Given the description of an element on the screen output the (x, y) to click on. 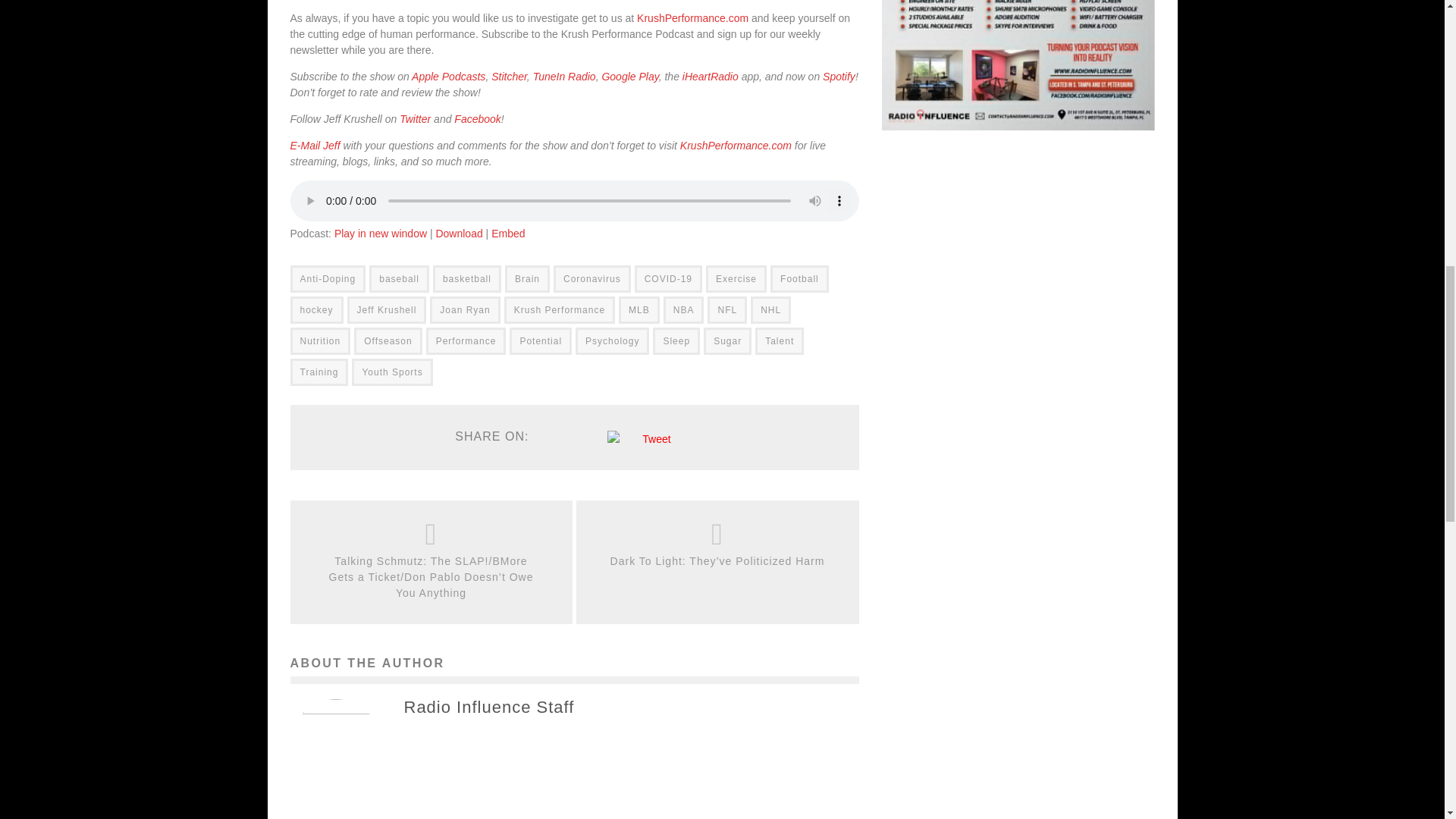
Facebook (477, 118)
Spotify (839, 75)
Play in new window (380, 233)
Joan Ryan (464, 308)
Brain (527, 278)
Coronavirus (591, 278)
Exercise (736, 278)
iHeartRadio (710, 75)
Download (458, 233)
KrushPerformance.com (735, 145)
Google Play (629, 75)
Play in new window (380, 233)
basketball (466, 278)
Twitter (414, 118)
Krush Performance (558, 308)
